Given the description of an element on the screen output the (x, y) to click on. 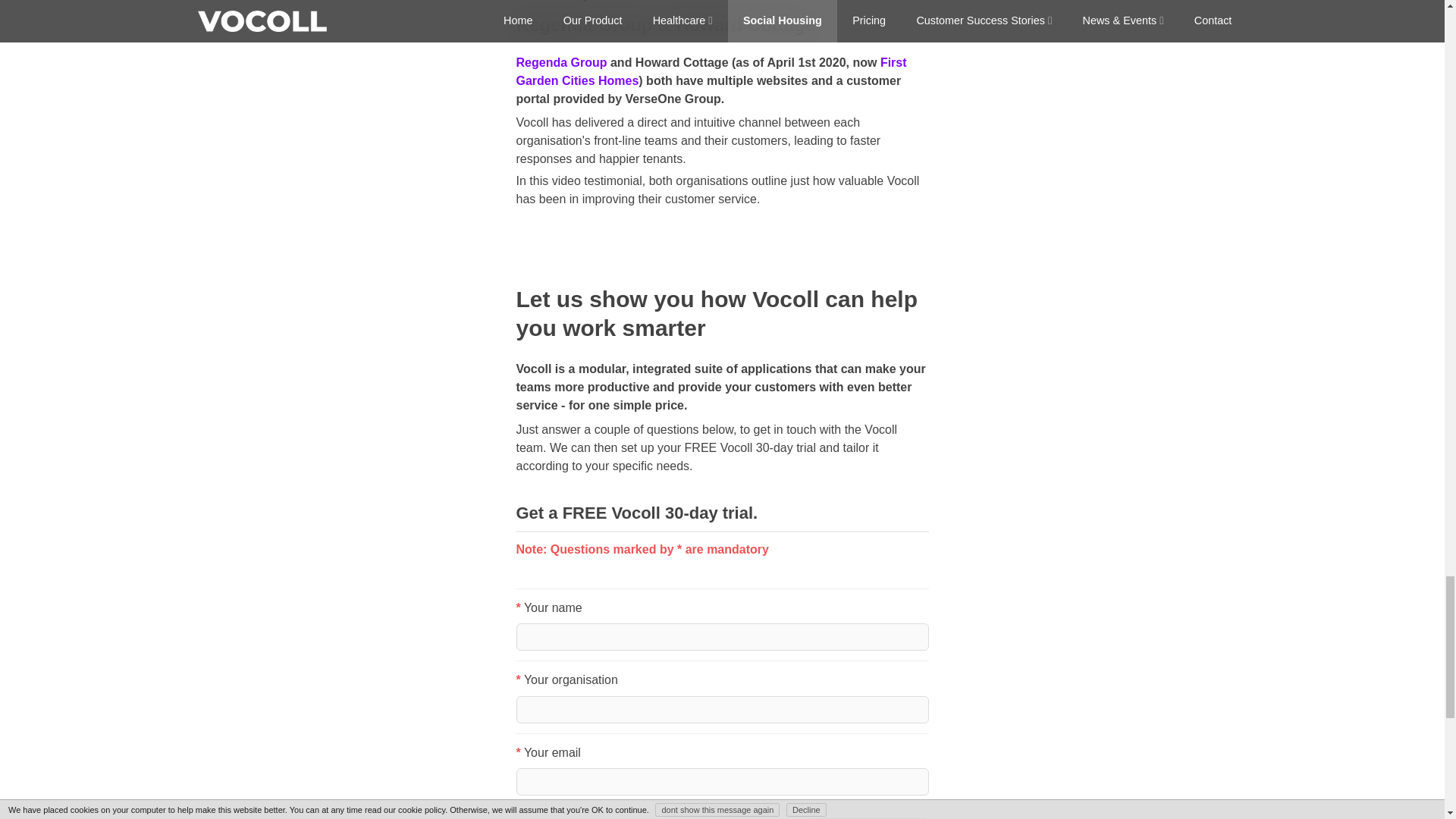
Regenda Group (561, 62)
First Garden Cities Homes (710, 71)
Opens in a new window (710, 71)
Opens in a new window (561, 62)
